Given the description of an element on the screen output the (x, y) to click on. 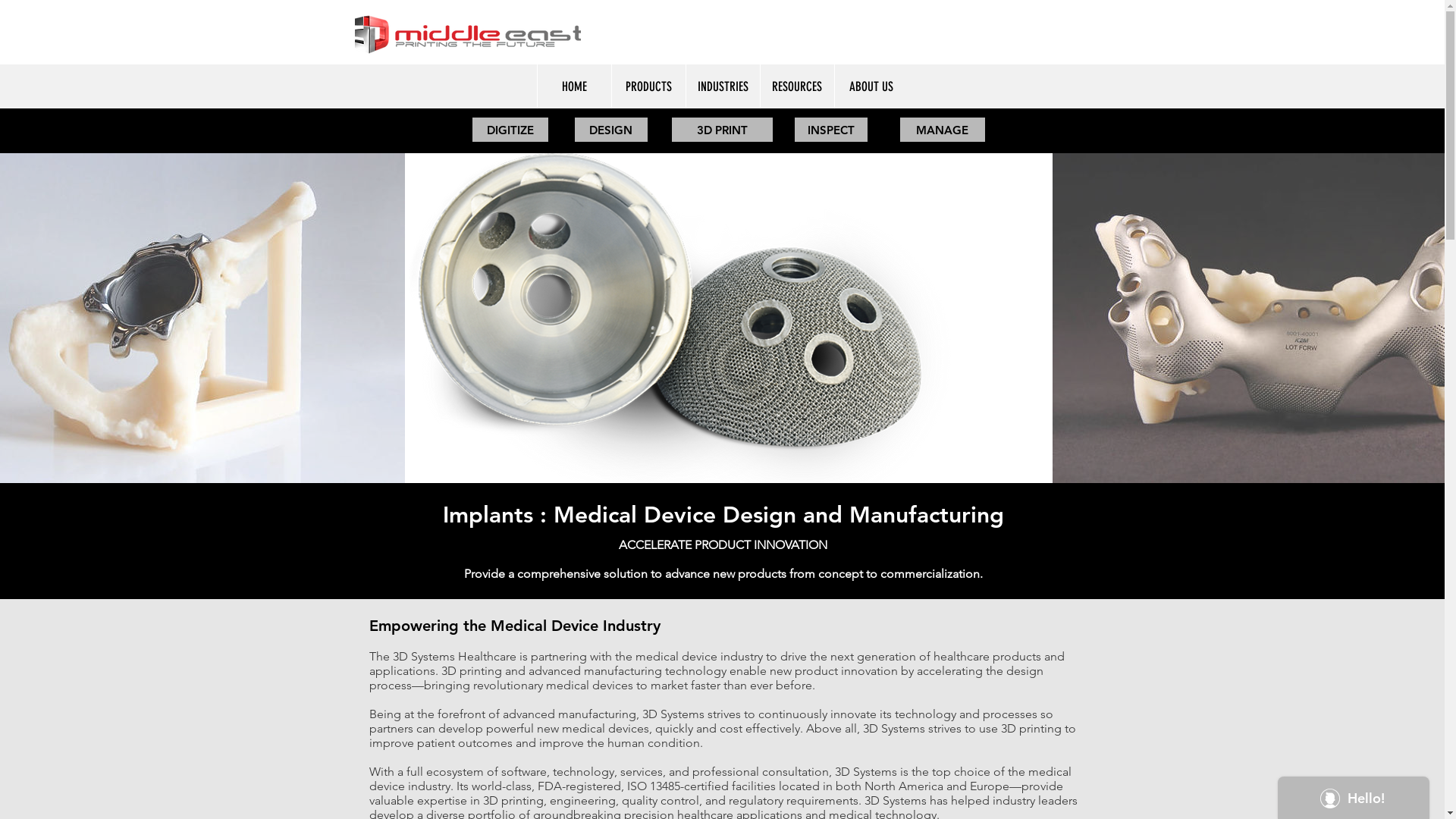
PRODUCTS Element type: text (648, 86)
RESOURCES Element type: text (796, 86)
INSPECT Element type: text (830, 129)
MANAGE Element type: text (941, 129)
INDUSTRIES Element type: text (722, 86)
HOME Element type: text (573, 86)
ABOUT US Element type: text (871, 86)
3D PRINT Element type: text (721, 129)
DIGITIZE Element type: text (509, 129)
DESIGN Element type: text (610, 129)
